Given the description of an element on the screen output the (x, y) to click on. 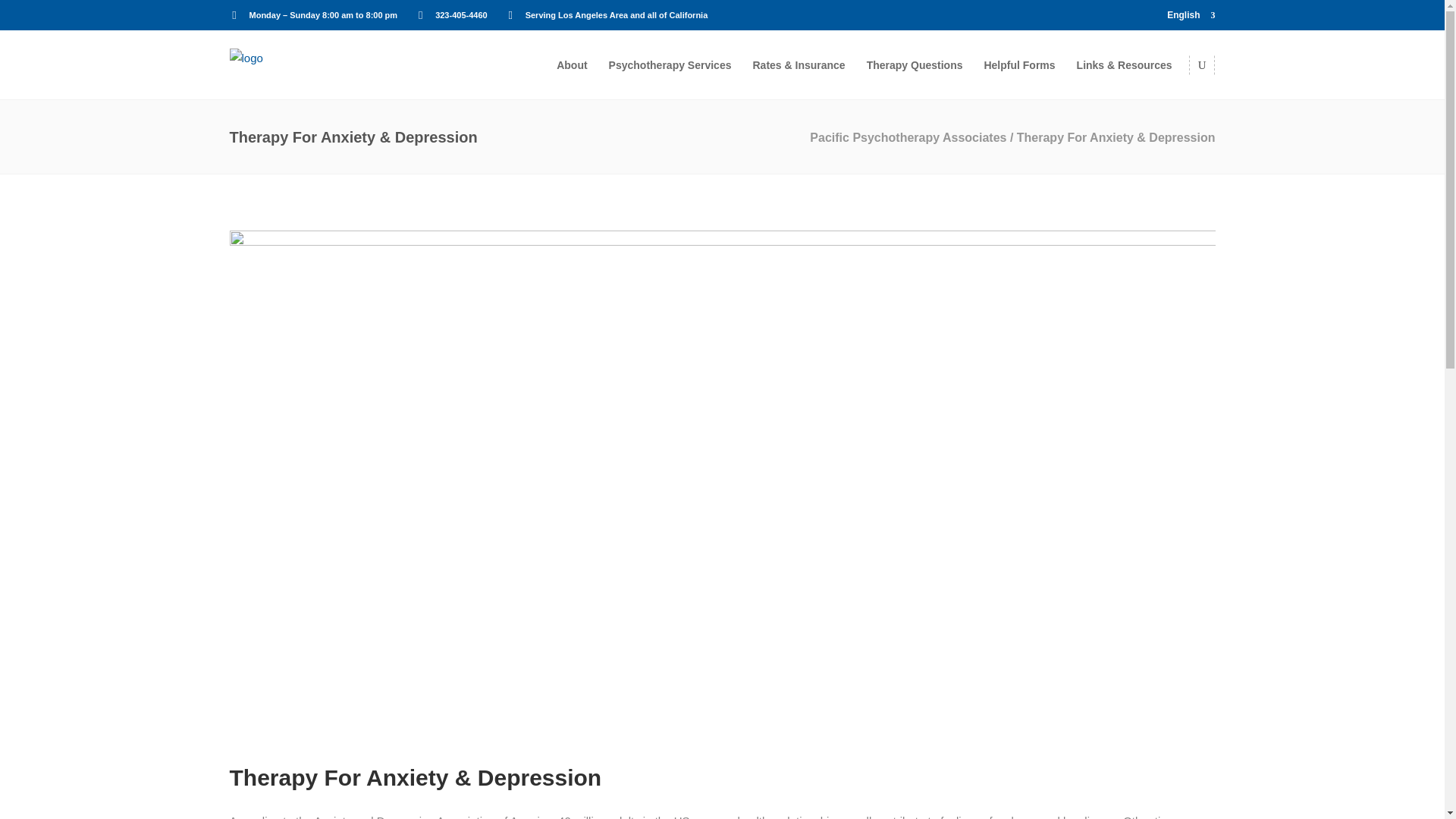
Search (1171, 123)
Psychotherapy Services (670, 64)
English (1190, 14)
Therapy Questions (915, 64)
Helpful Forms (1018, 64)
